Given the description of an element on the screen output the (x, y) to click on. 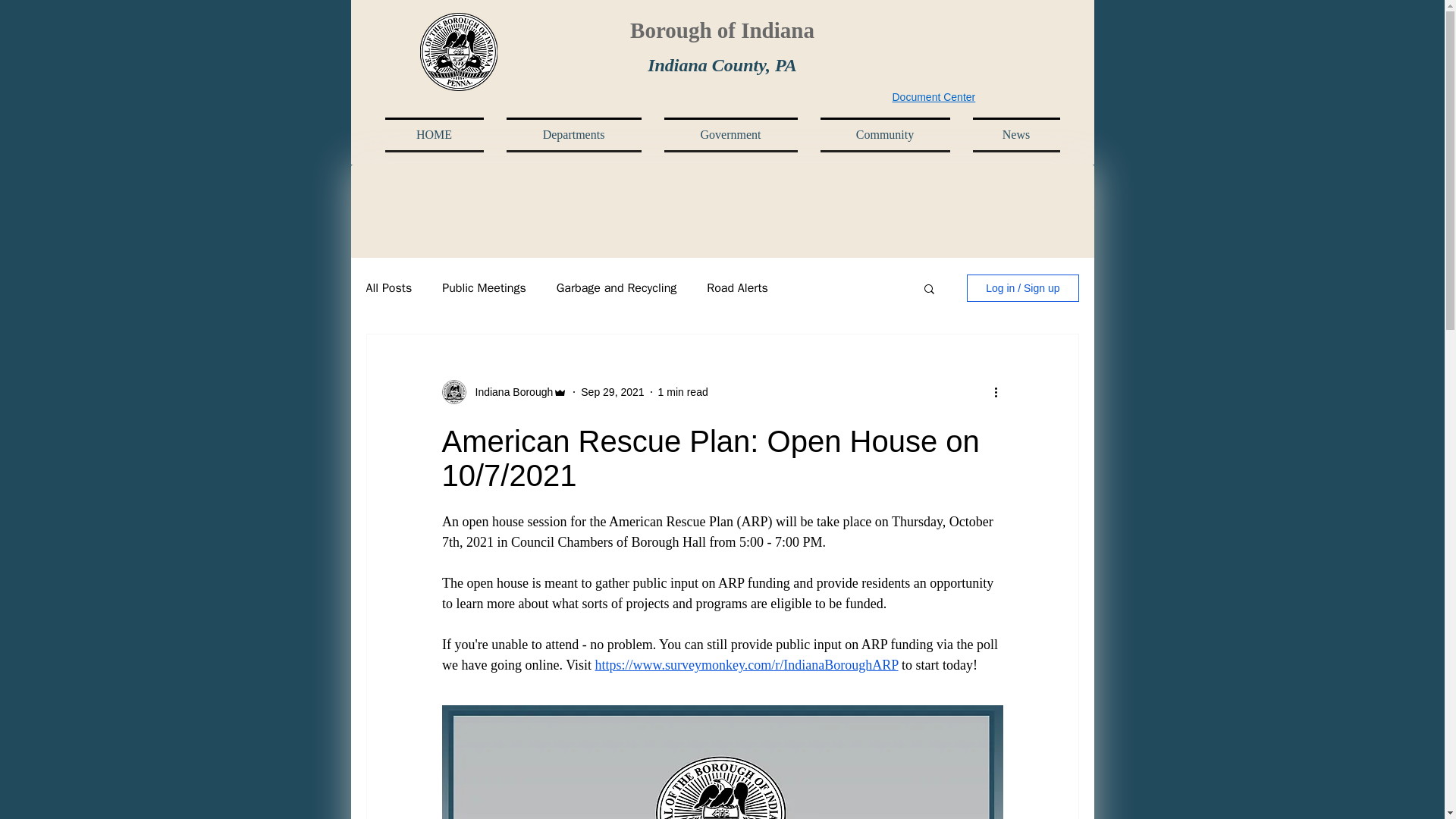
HOME (440, 134)
Sep 29, 2021 (611, 390)
Indiana County, PA (721, 65)
Borough of Indiana (721, 30)
Indiana Borough (509, 391)
Document Center (933, 97)
1 min read (682, 390)
